Given the description of an element on the screen output the (x, y) to click on. 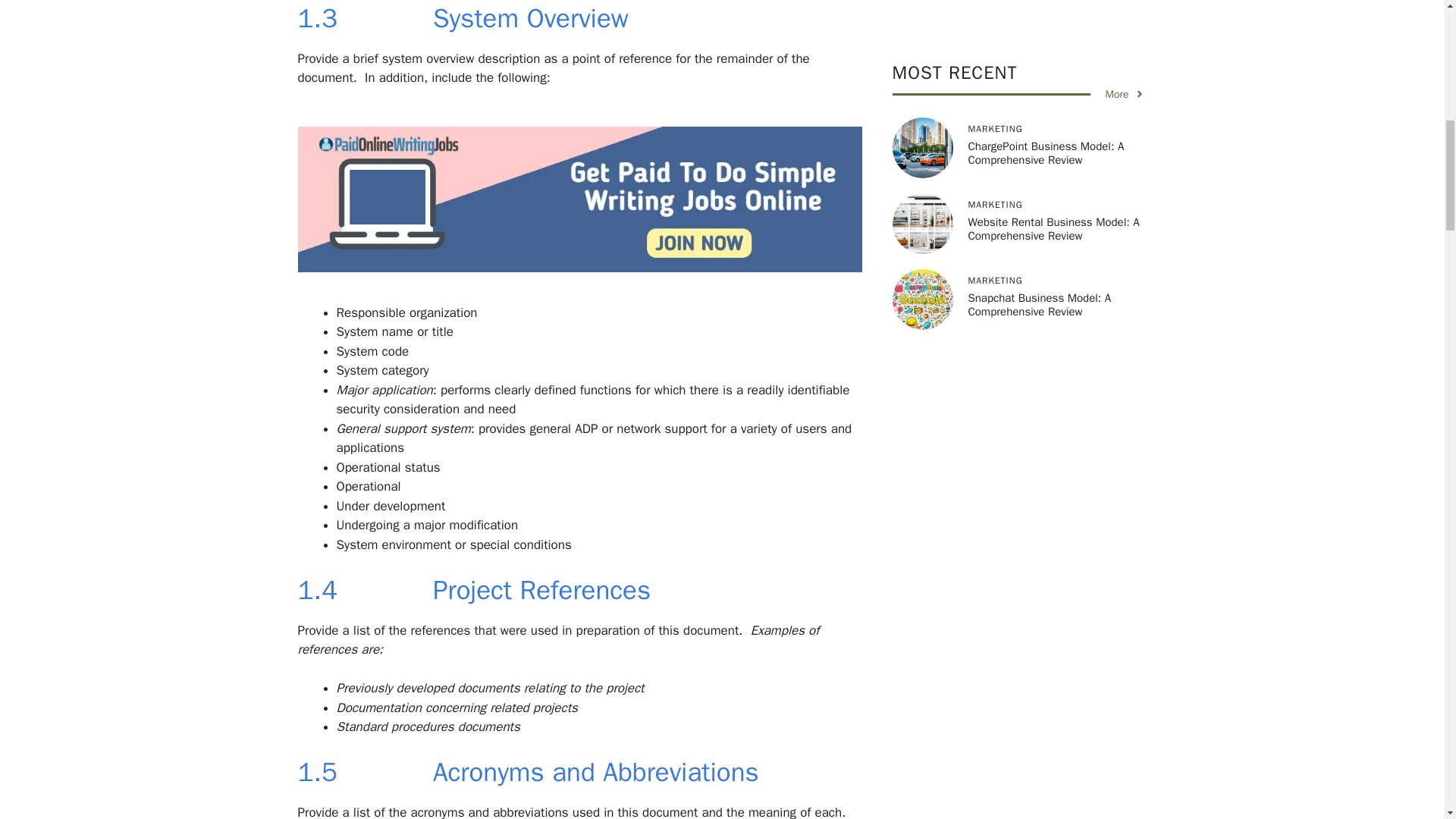
1.4            Project References (473, 589)
Scroll back to top (1406, 720)
1.5            Acronyms and Abbreviations (527, 771)
1.3            System Overview (462, 18)
